Given the description of an element on the screen output the (x, y) to click on. 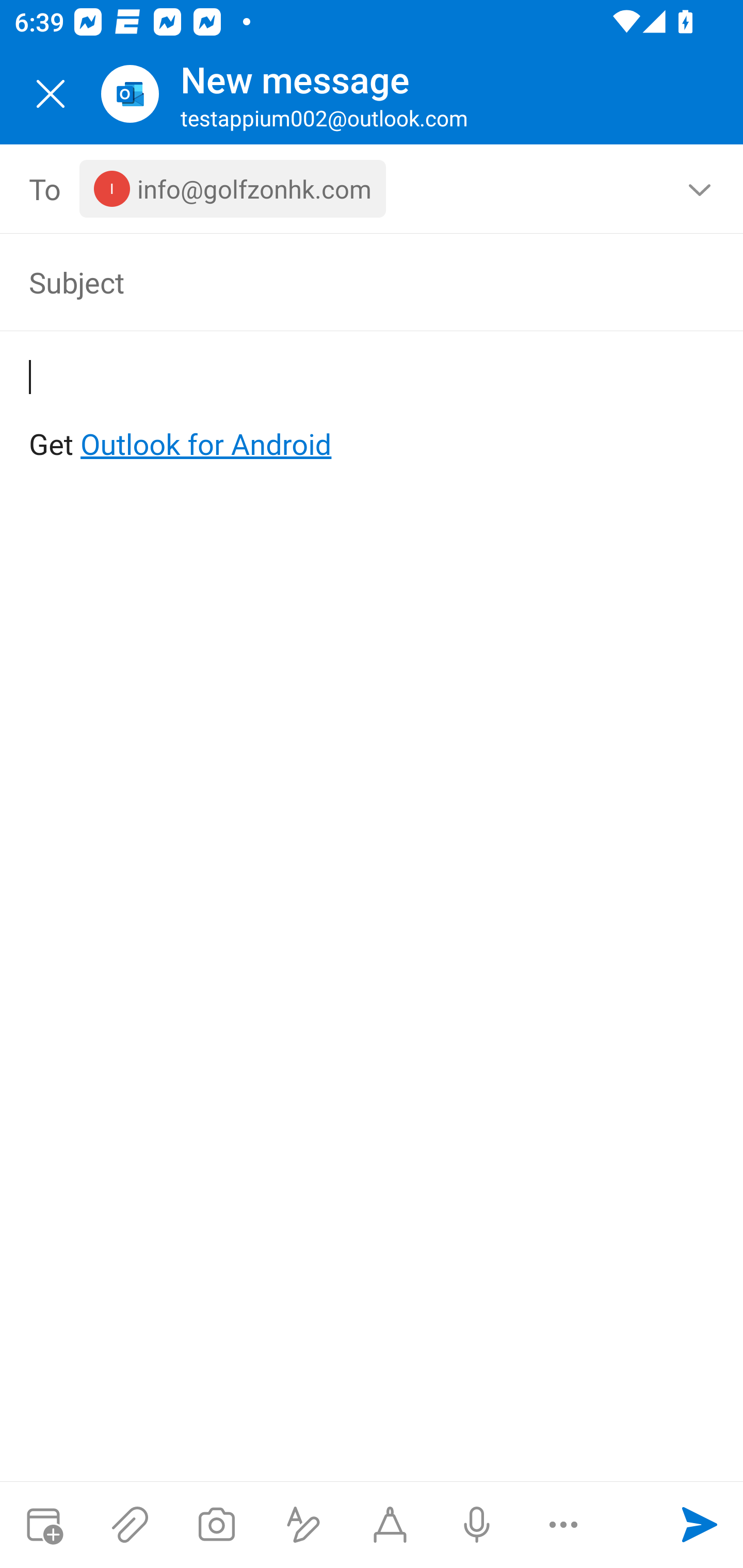
Close (50, 93)
Subject (342, 281)


Get Outlook for Android (372, 411)
Attach meeting (43, 1524)
Attach files (129, 1524)
Take a photo (216, 1524)
Show formatting options (303, 1524)
Start Ink compose (389, 1524)
Dictation (476, 1524)
More options (563, 1524)
Send (699, 1524)
